Given the description of an element on the screen output the (x, y) to click on. 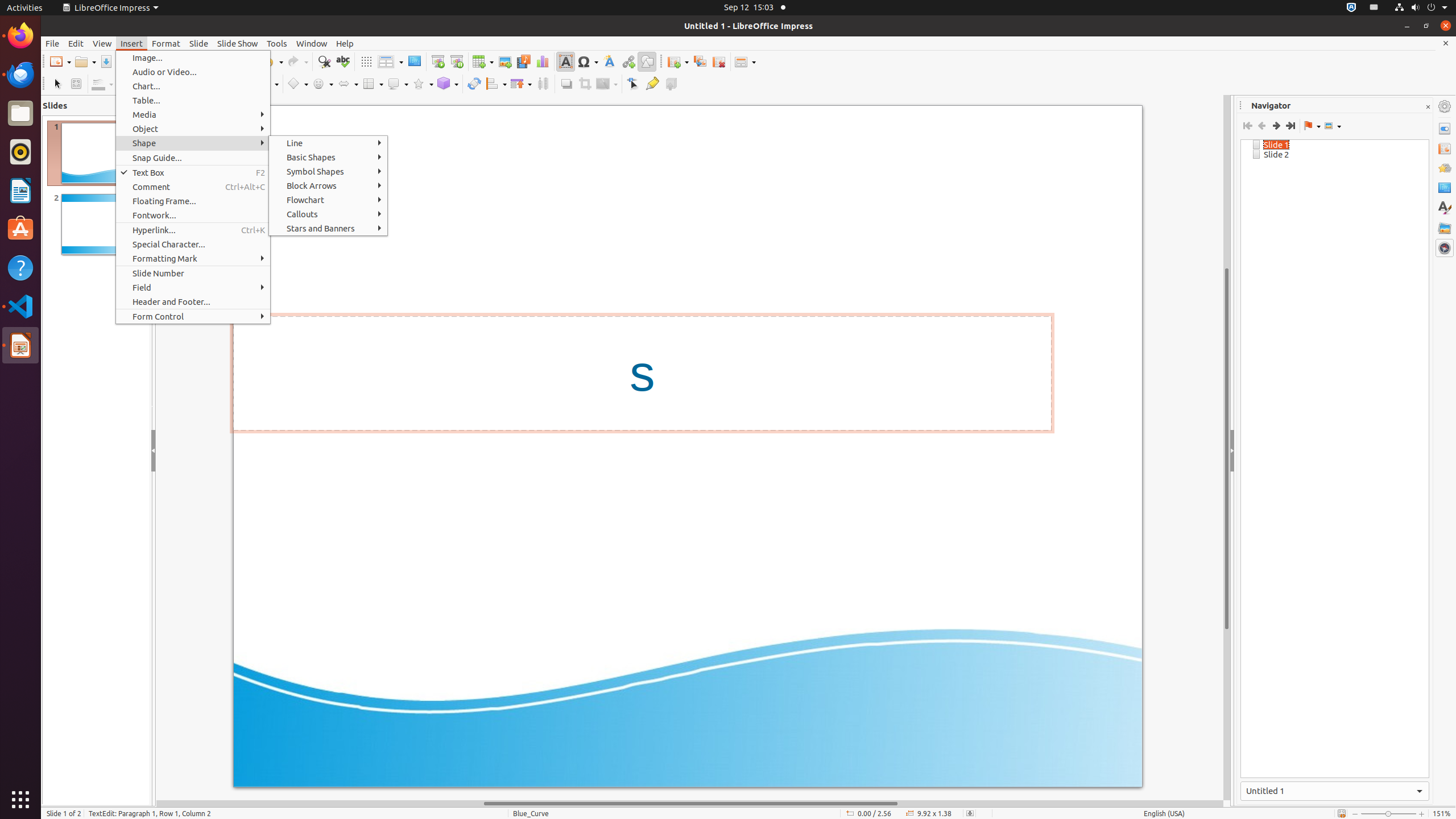
First Slide Element type: push-button (1247, 125)
Navigator Element type: radio-button (1444, 247)
Shape Element type: menu (193, 142)
Horizontal scroll bar Element type: scroll-bar (689, 803)
Drag Mode Element type: push-button (1311, 125)
